Given the description of an element on the screen output the (x, y) to click on. 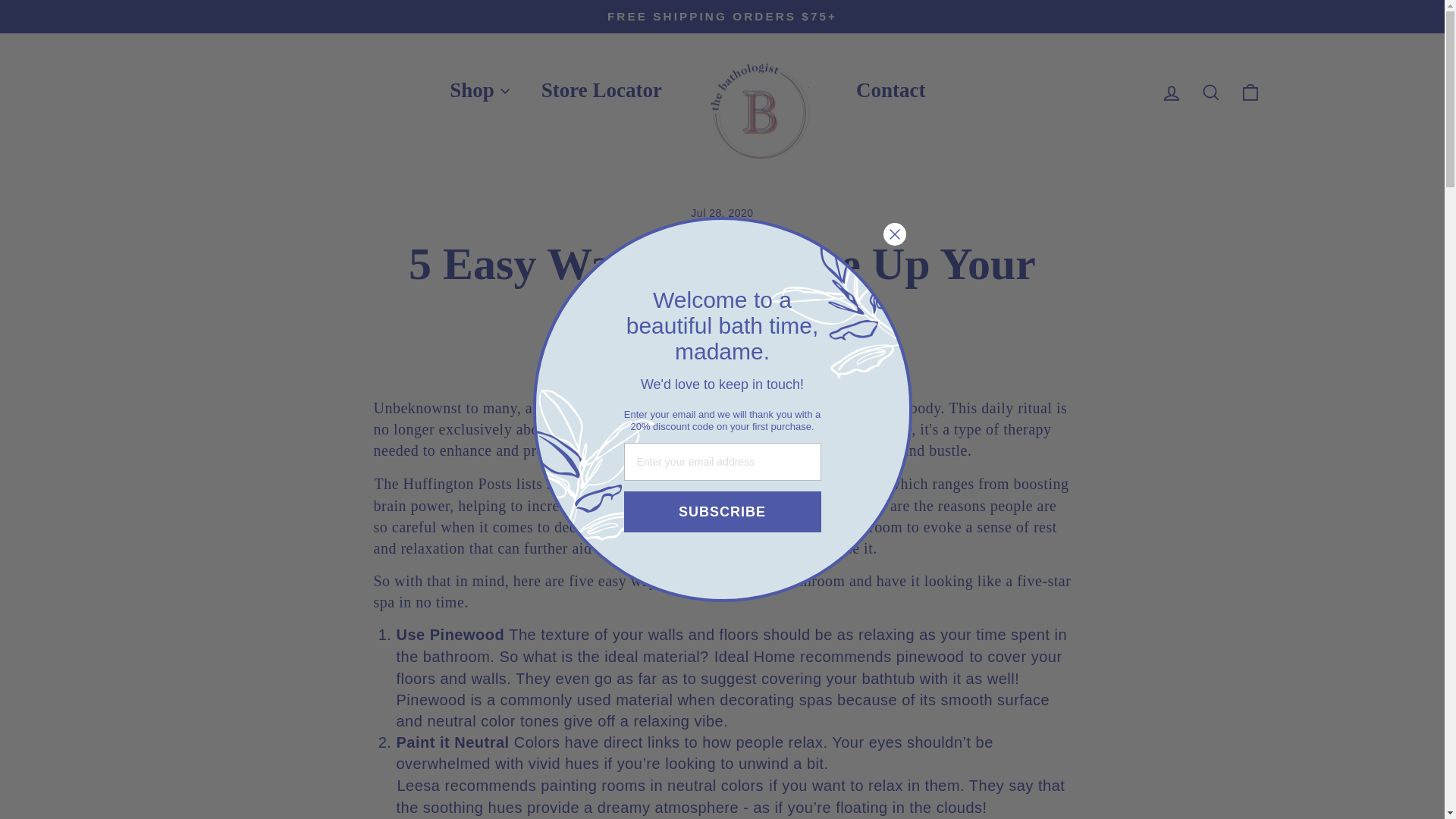
Shop (471, 91)
